Given the description of an element on the screen output the (x, y) to click on. 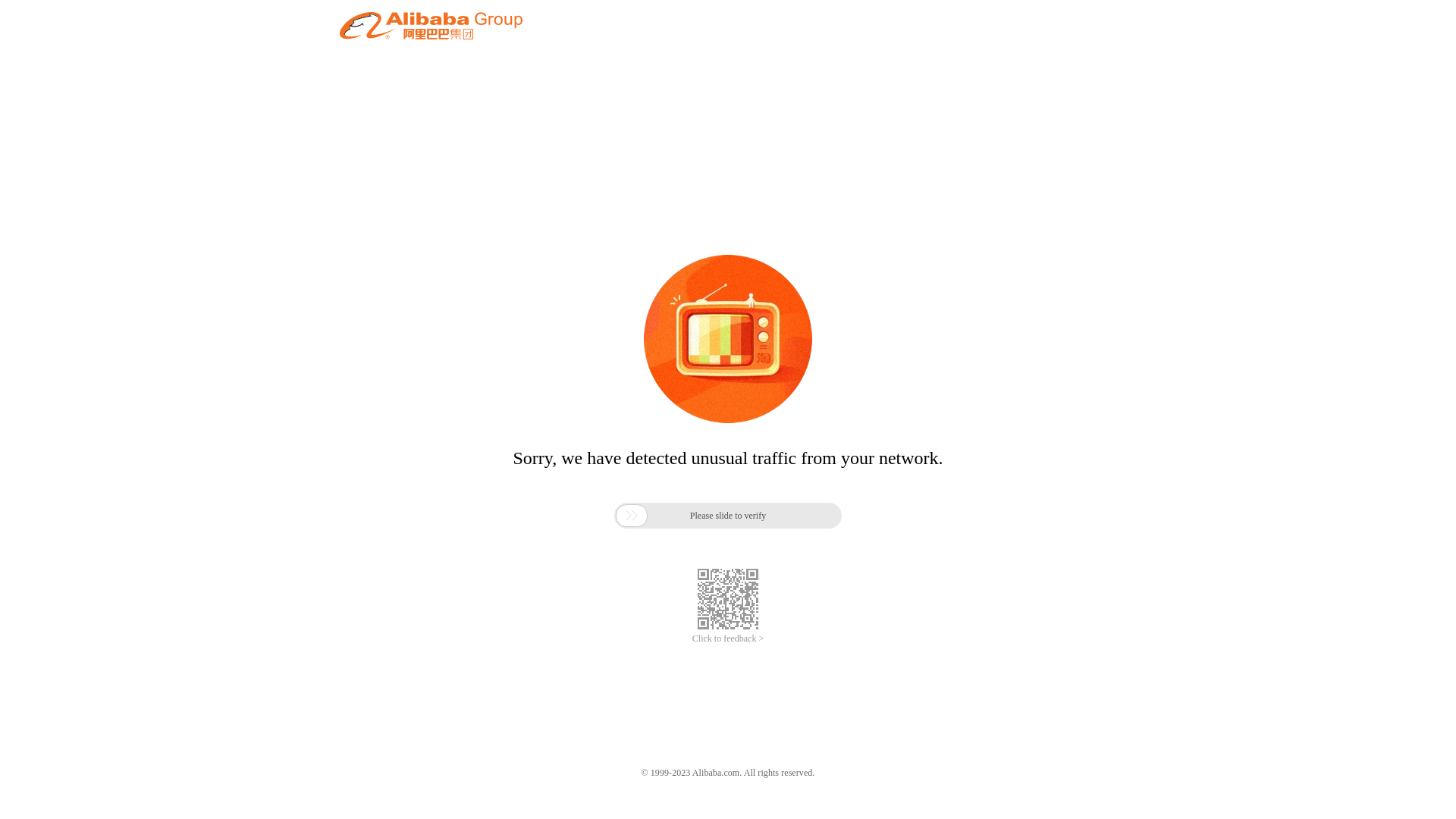
Click to feedback > Element type: text (727, 638)
